Given the description of an element on the screen output the (x, y) to click on. 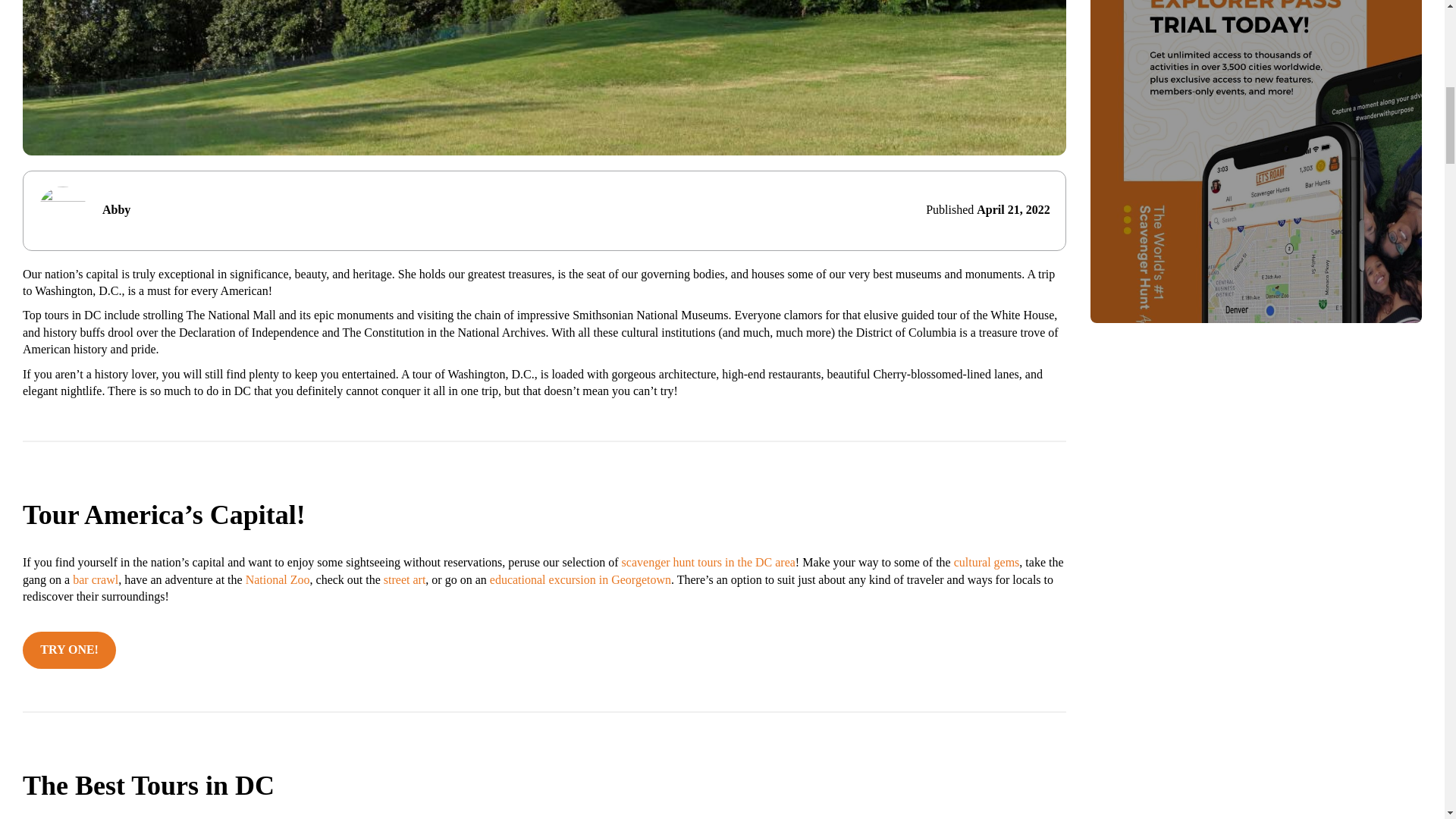
cultural gems (986, 562)
educational excursion in Georgetown (580, 579)
street art (405, 579)
scavenger hunt tours in the DC area (707, 562)
bar crawl (94, 579)
National Zoo (278, 579)
TRY ONE! (69, 650)
